Given the description of an element on the screen output the (x, y) to click on. 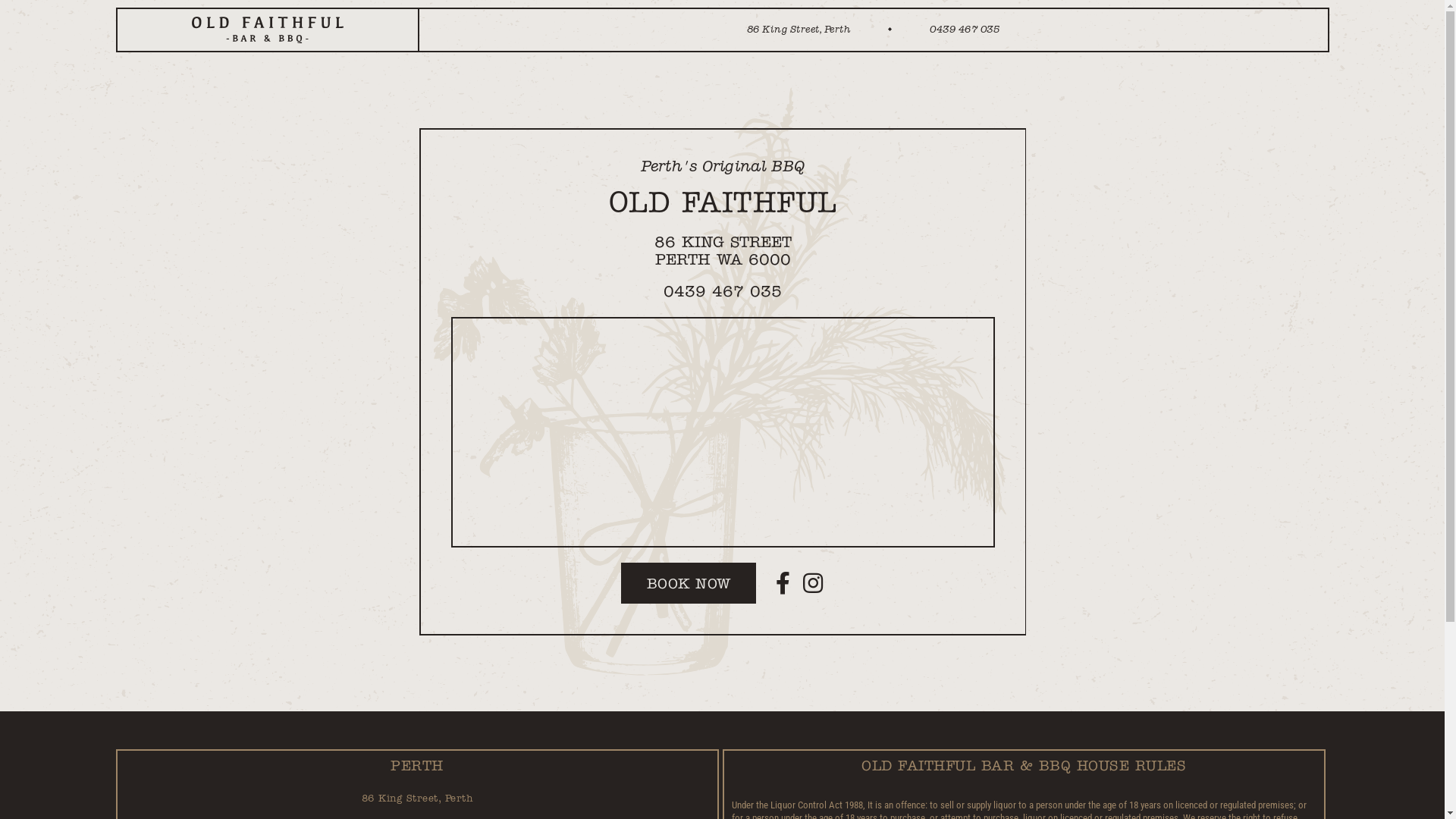
0439 467 035 Element type: text (964, 29)
0439 467 035 Element type: text (722, 292)
BOOK NOW Element type: text (688, 582)
86 King Street, Perth WA 6000 Element type: hover (721, 432)
